Given the description of an element on the screen output the (x, y) to click on. 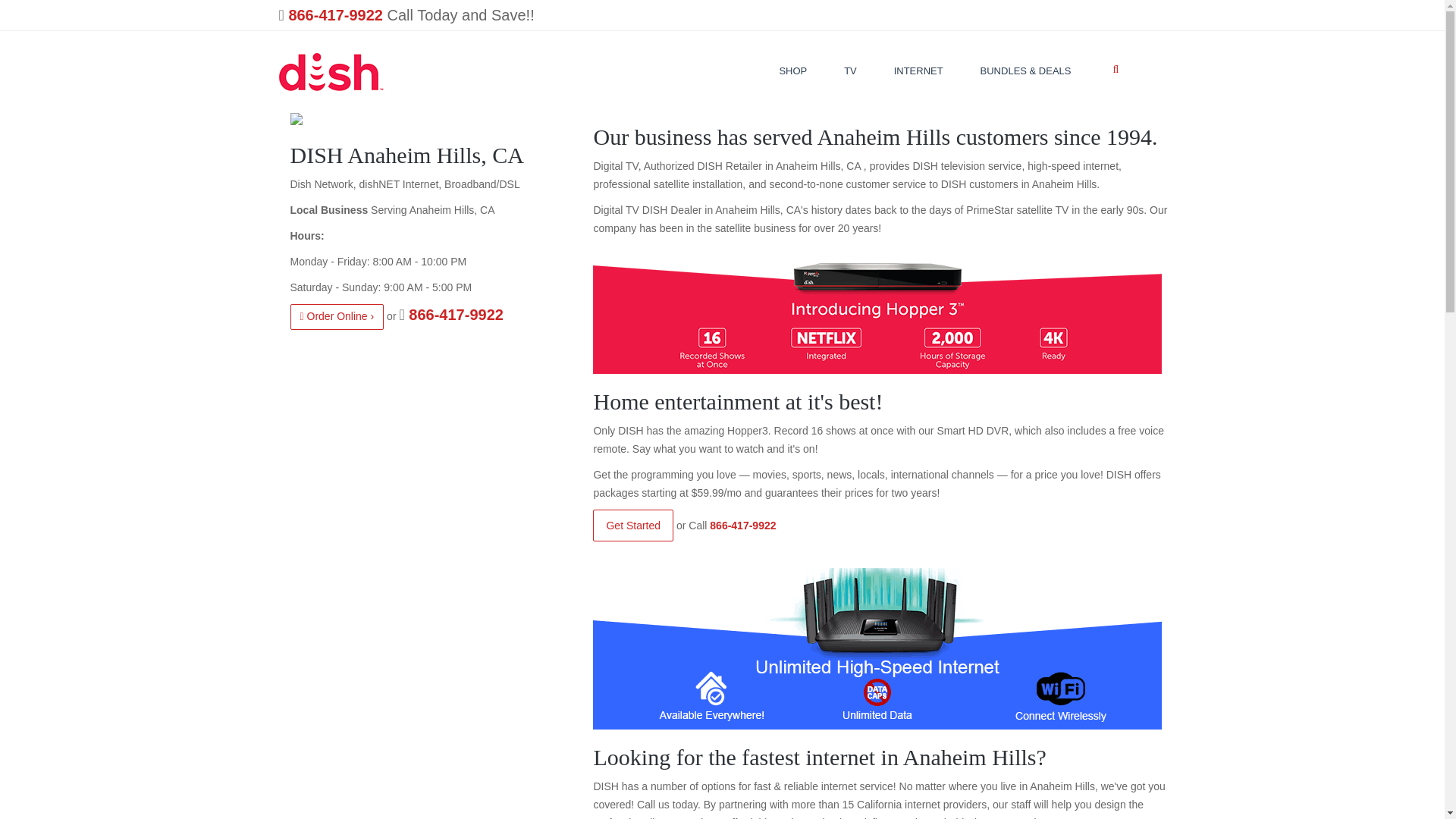
866-417-9922 (456, 314)
Get Started (632, 525)
866-417-9922 (743, 525)
INTERNET (918, 69)
866-417-9922 (335, 14)
